Given the description of an element on the screen output the (x, y) to click on. 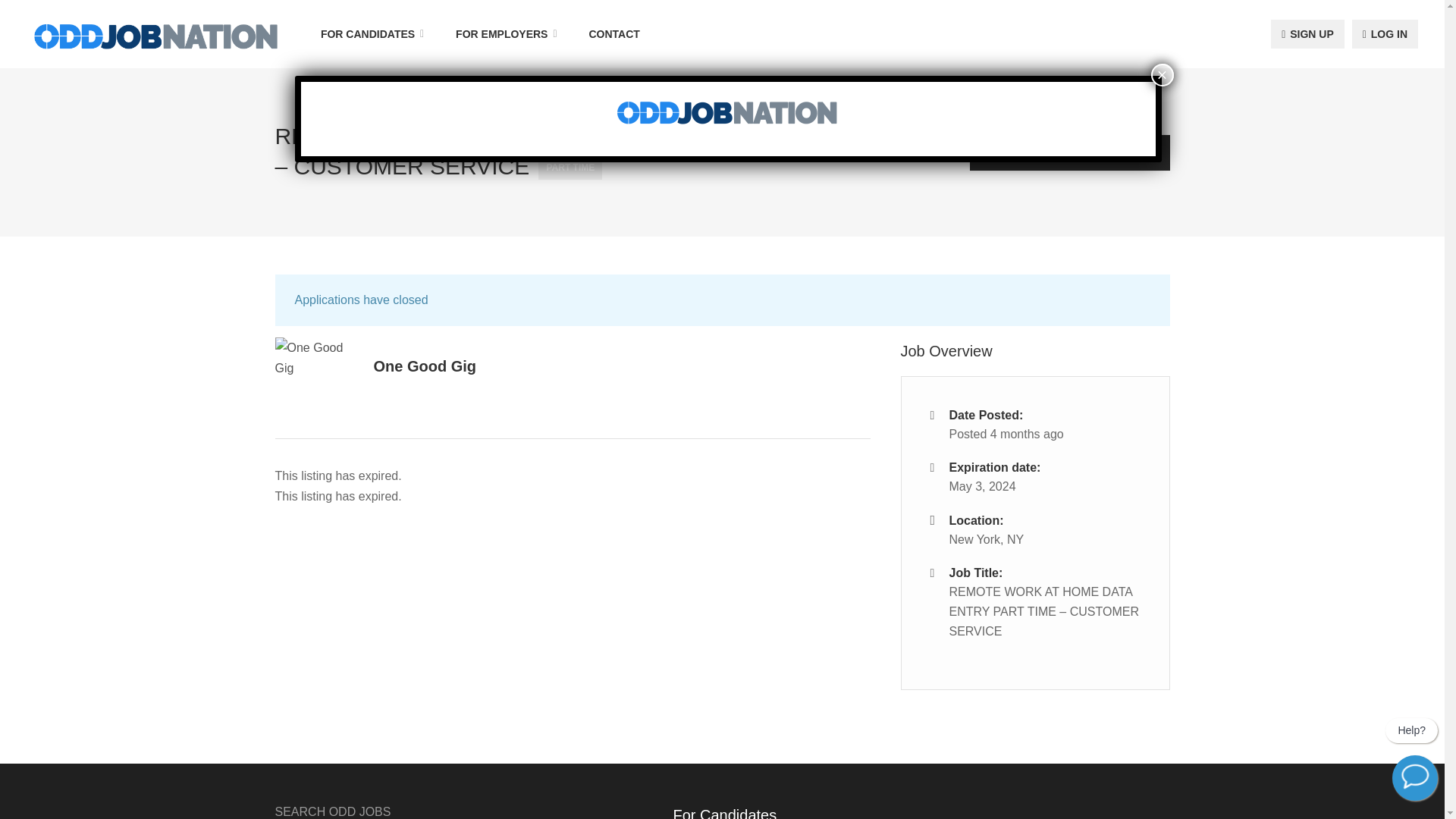
Odd Job Nation (156, 36)
FOR CANDIDATES (374, 33)
